Given the description of an element on the screen output the (x, y) to click on. 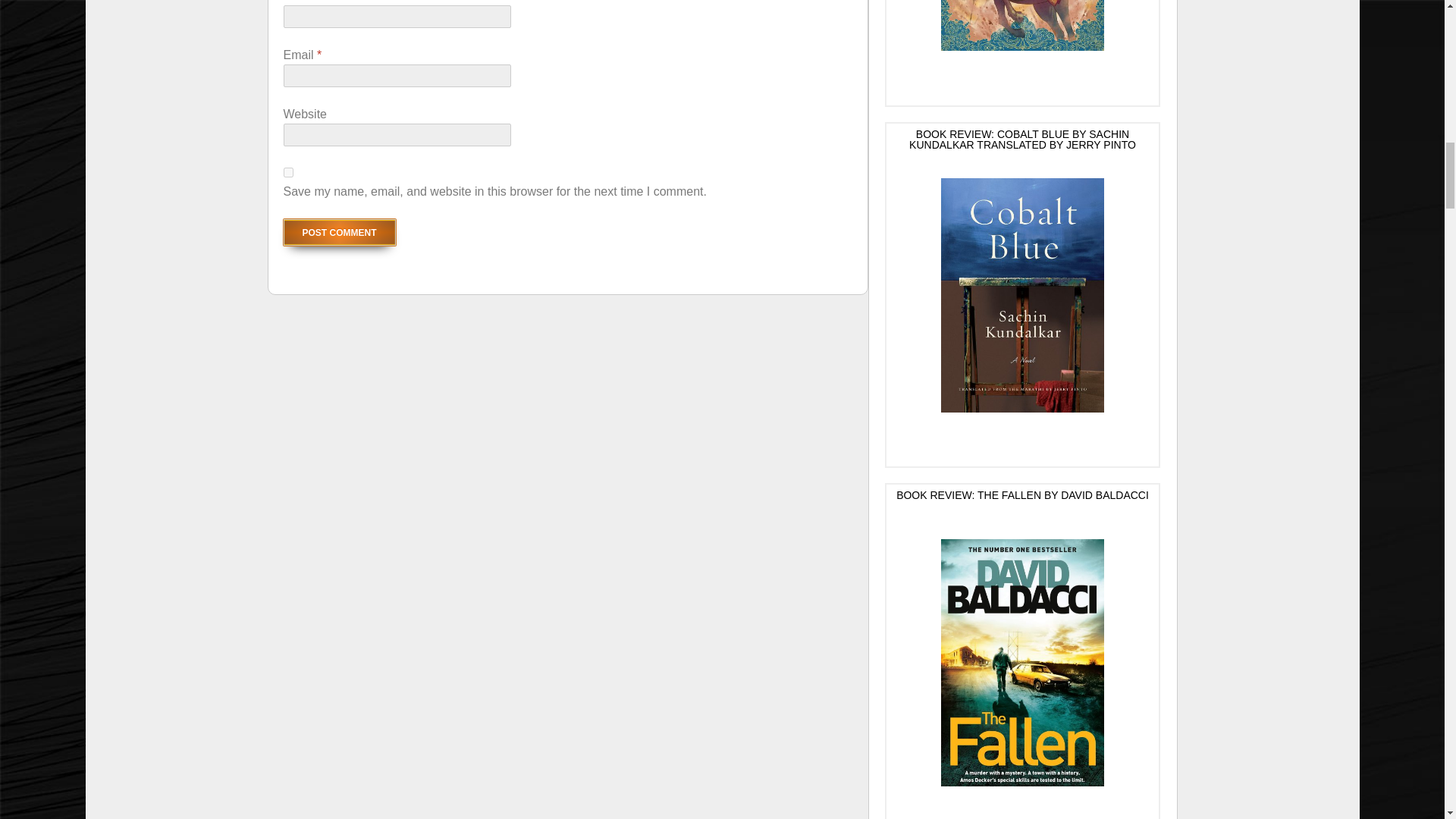
Post Comment (339, 232)
yes (288, 172)
Post Comment (339, 232)
